Given the description of an element on the screen output the (x, y) to click on. 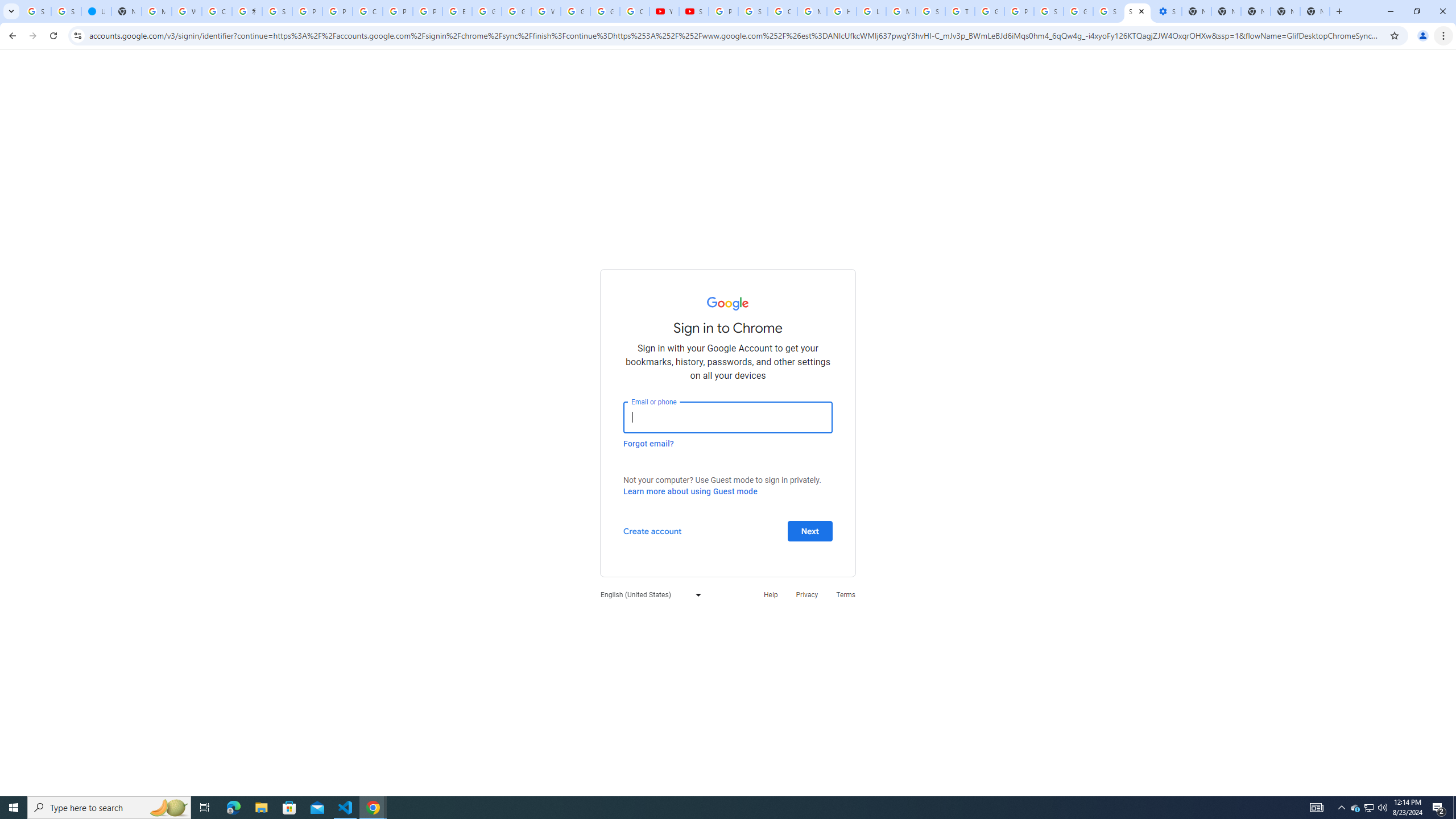
Sign in - Google Accounts (277, 11)
Forgot email? (648, 443)
Google Cybersecurity Innovations - Google Safety Center (1077, 11)
YouTube (664, 11)
Sign in - Google Accounts (1048, 11)
Create your Google Account (216, 11)
